Given the description of an element on the screen output the (x, y) to click on. 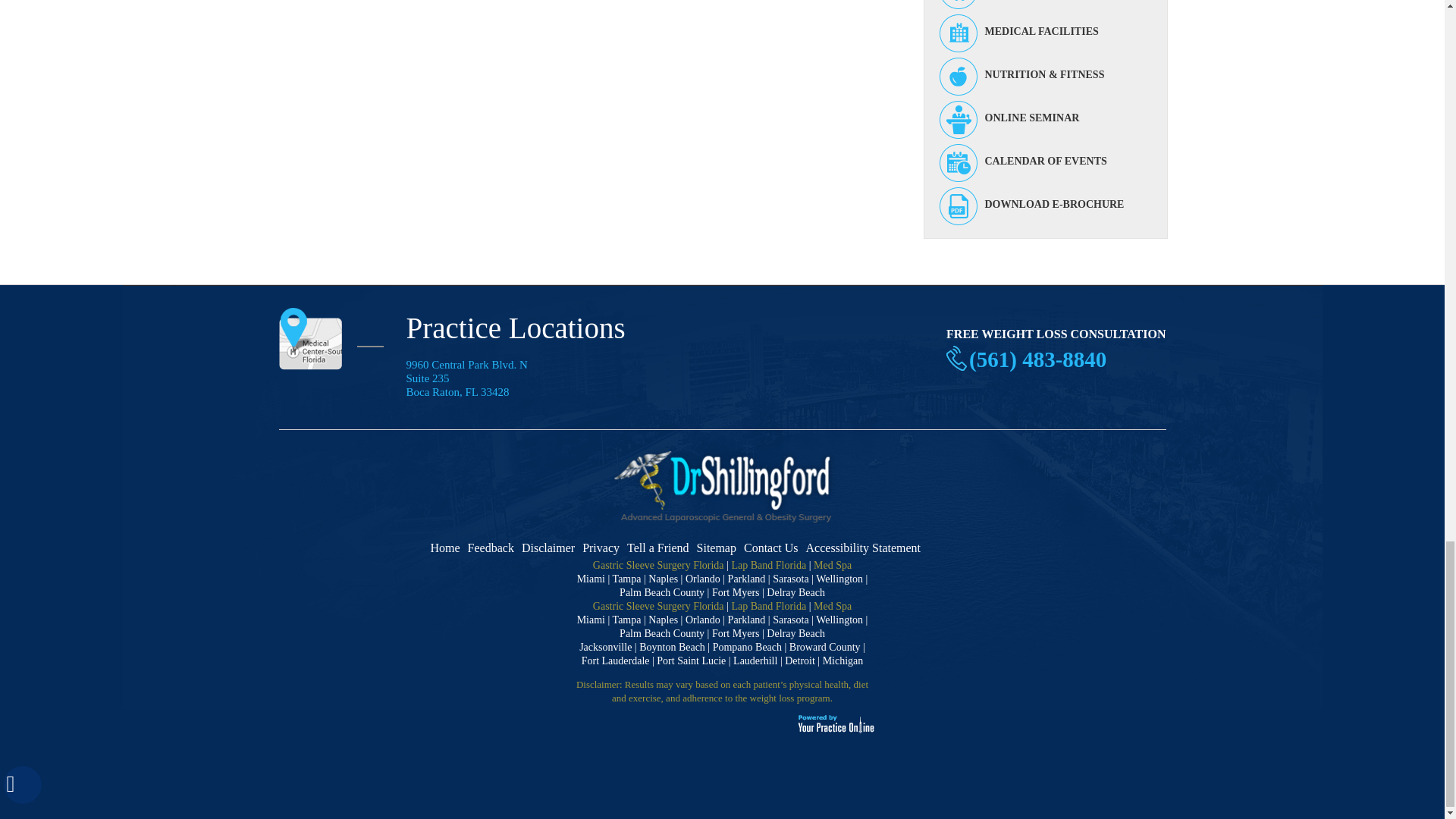
Telephone Number of Kahlil A. Shillingford, M.D. PA (1037, 359)
Powered by Your Practice Online India pvt. ltd. (836, 729)
